Given the description of an element on the screen output the (x, y) to click on. 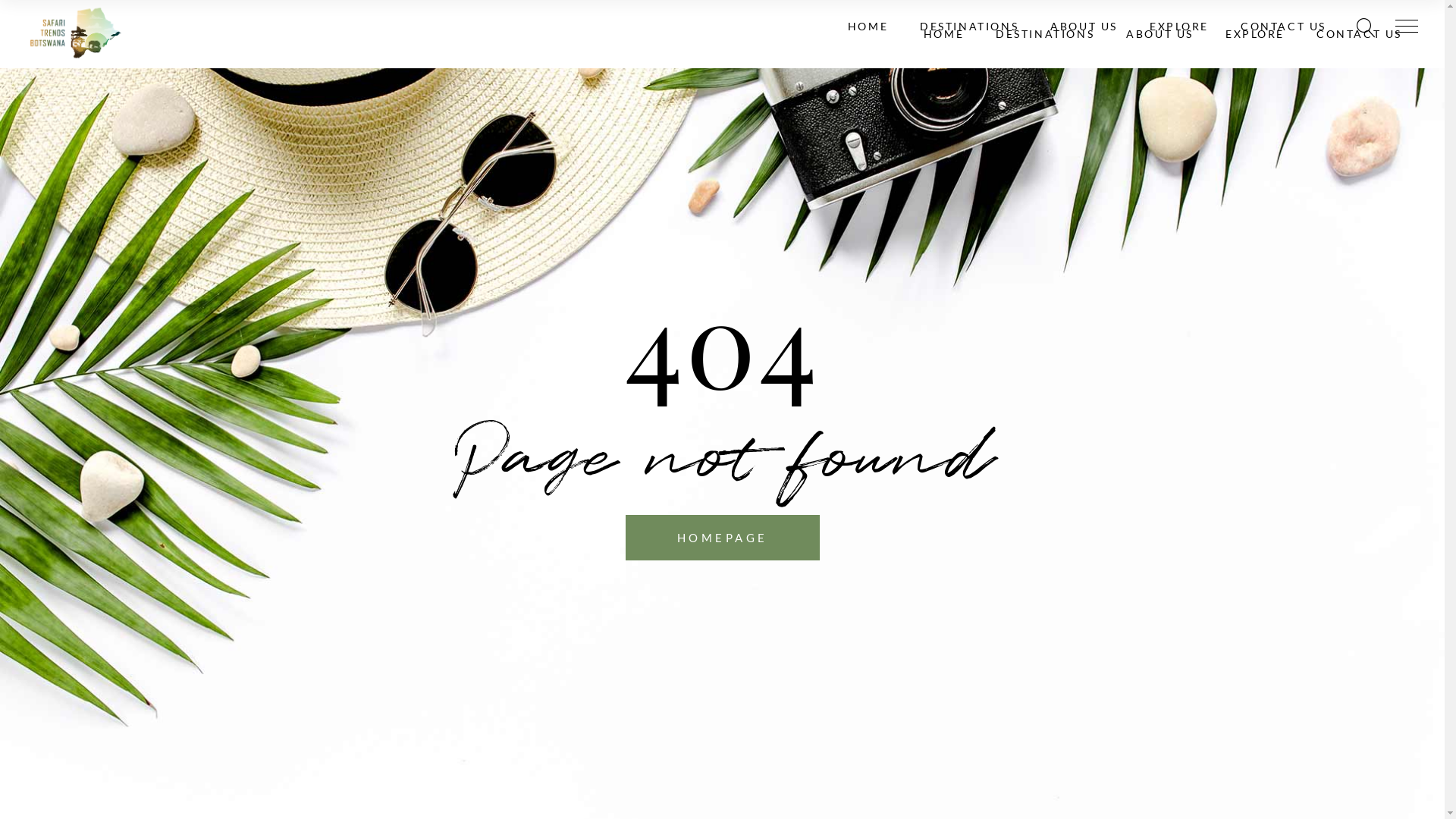
ABOUT US Element type: text (1159, 34)
HOME Element type: text (867, 26)
DESTINATIONS Element type: text (1044, 34)
EXPLORE Element type: text (1254, 34)
EXPLORE Element type: text (1178, 26)
HOMEPAGE Element type: text (721, 536)
CONTACT US Element type: text (1283, 26)
ABOUT US Element type: text (1083, 26)
HOME Element type: text (943, 34)
CONTACT US Element type: text (1359, 34)
DESTINATIONS Element type: text (968, 26)
